Given the description of an element on the screen output the (x, y) to click on. 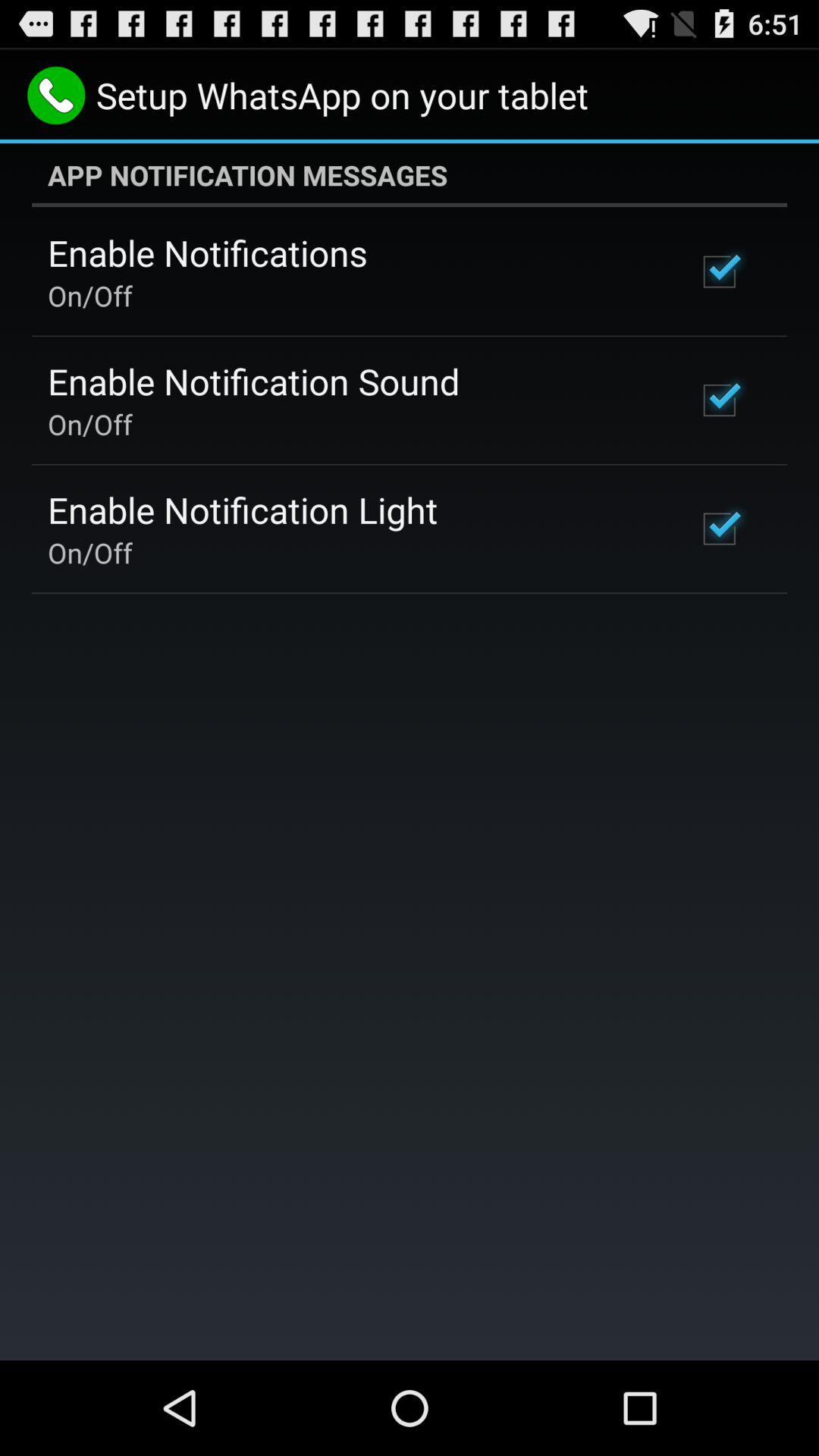
select the item above the enable notifications item (409, 175)
